Given the description of an element on the screen output the (x, y) to click on. 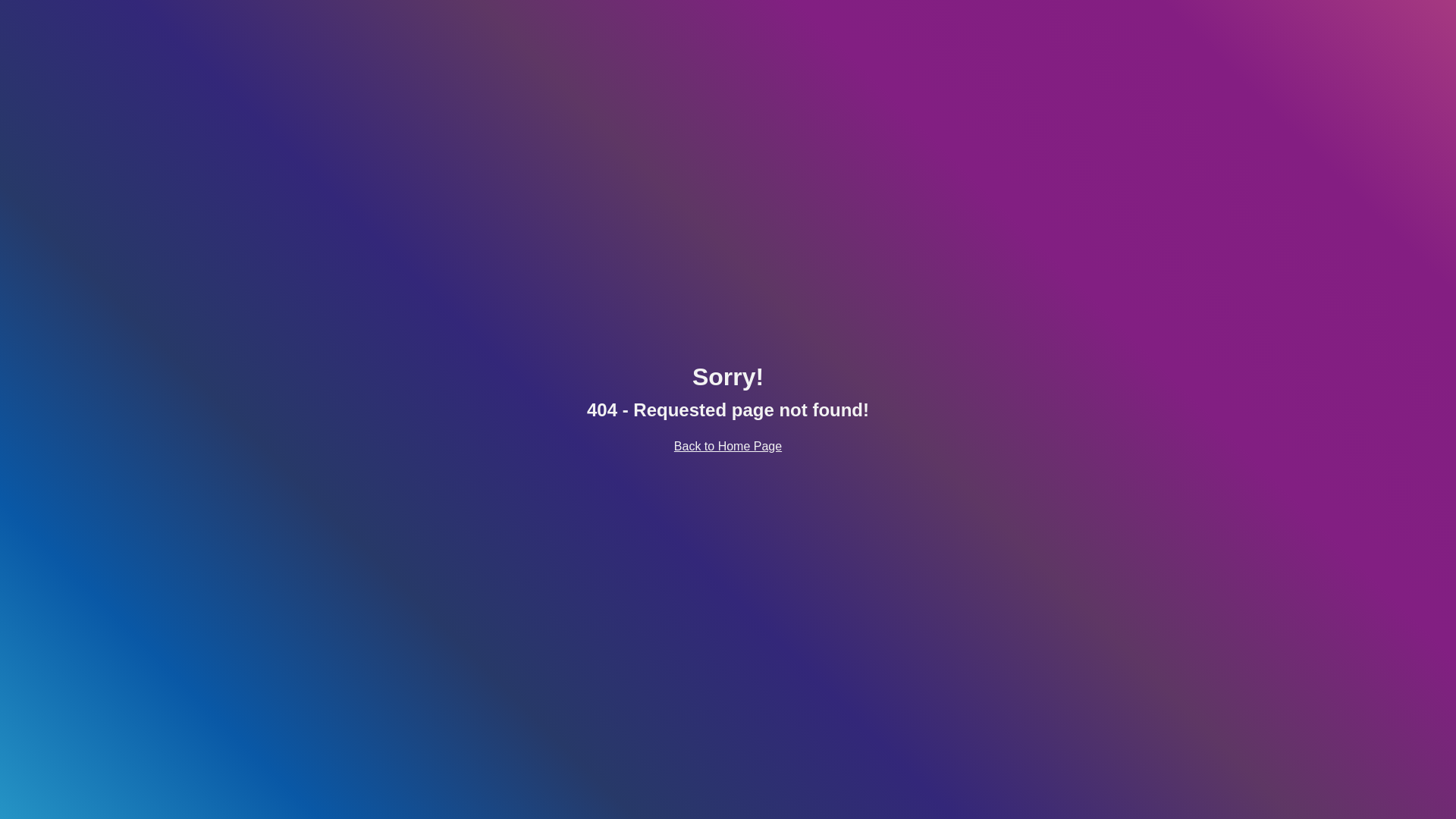
Back to Home Page Element type: text (727, 445)
